Given the description of an element on the screen output the (x, y) to click on. 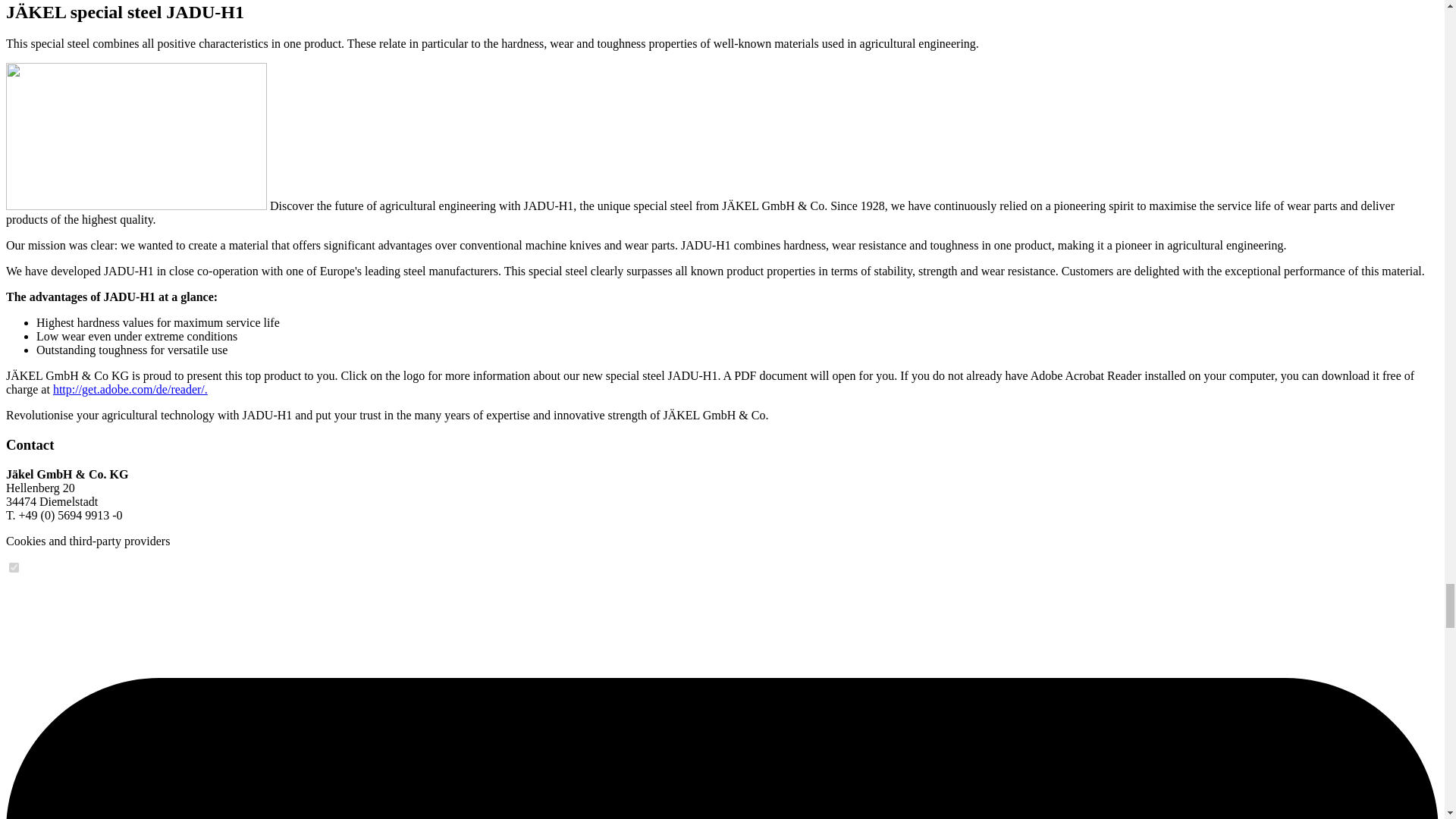
gmaps (13, 567)
